Given the description of an element on the screen output the (x, y) to click on. 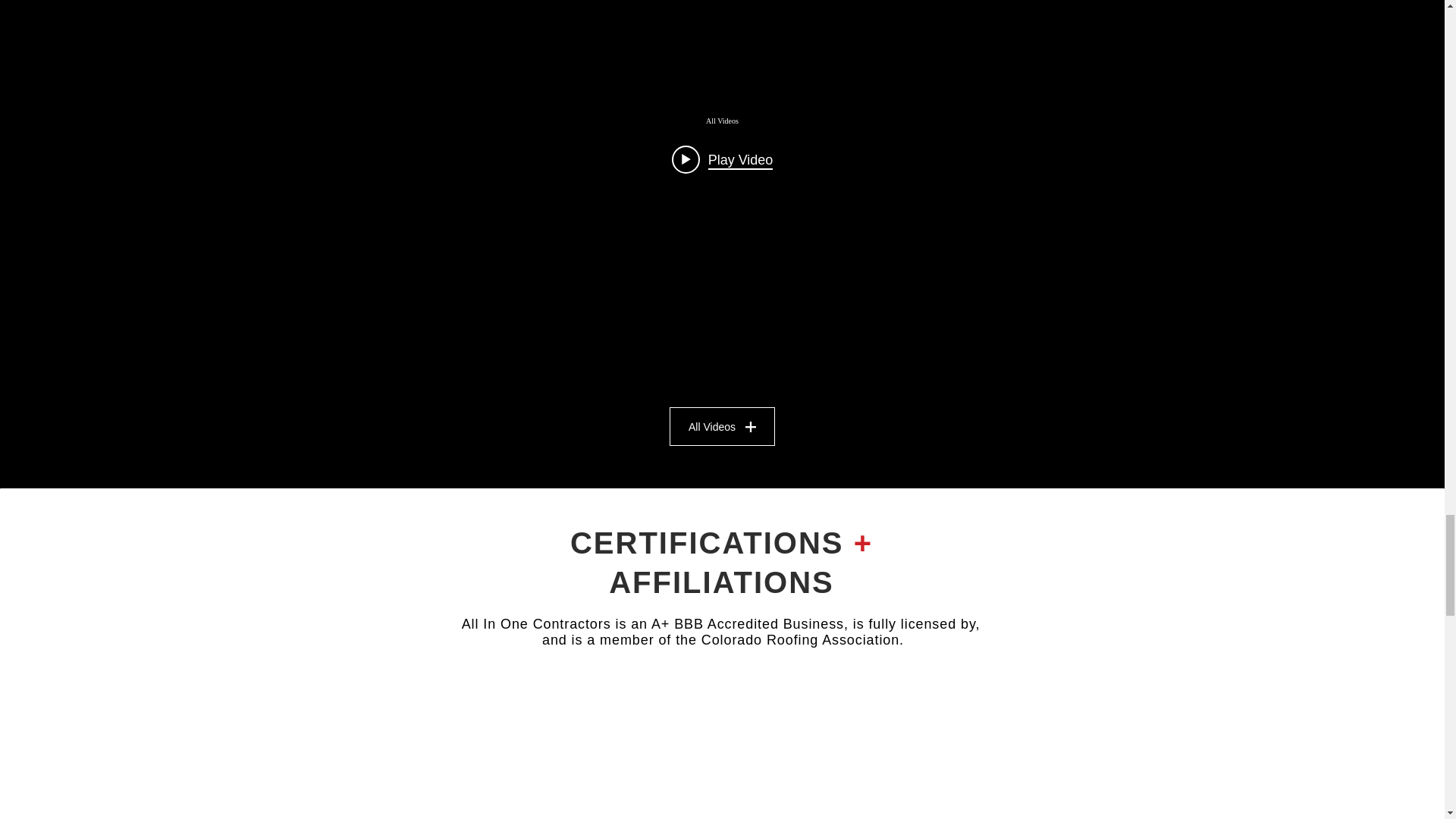
All Videos (721, 426)
All Videos (721, 121)
Play Video (722, 159)
